Given the description of an element on the screen output the (x, y) to click on. 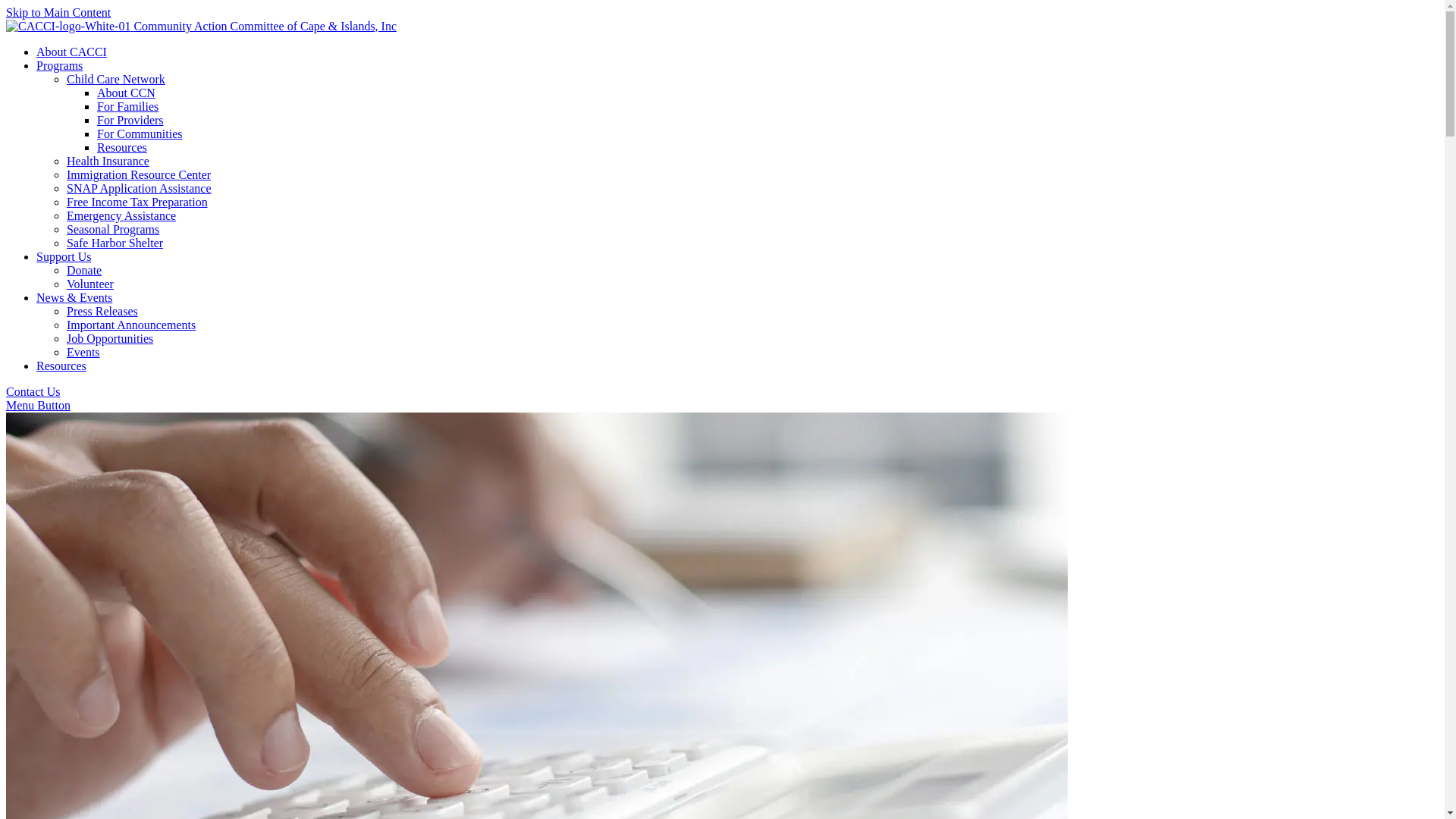
Press Releases Element type: text (102, 310)
Community Action Committee of Cape & Islands, Inc Element type: text (201, 25)
News & Events Element type: text (74, 297)
Skip to Main Content Element type: text (58, 12)
About CCN Element type: text (126, 92)
For Families Element type: text (127, 106)
Resources Element type: text (122, 147)
Safe Harbor Shelter Element type: text (114, 242)
Donate Element type: text (83, 269)
Resources Element type: text (61, 365)
SNAP Application Assistance Element type: text (138, 188)
About CACCI Element type: text (71, 51)
Important Announcements Element type: text (130, 324)
For Providers Element type: text (130, 119)
Job Opportunities Element type: text (109, 338)
Seasonal Programs Element type: text (112, 228)
Support Us Element type: text (63, 256)
Health Insurance Element type: text (107, 160)
Immigration Resource Center Element type: text (138, 174)
Emergency Assistance Element type: text (120, 215)
For Communities Element type: text (139, 133)
Volunteer Element type: text (89, 283)
Programs Element type: text (59, 65)
Menu Button Element type: text (38, 404)
Contact Us Element type: text (33, 391)
Events Element type: text (83, 351)
Free Income Tax Preparation Element type: text (136, 201)
Child Care Network Element type: text (115, 78)
